Given the description of an element on the screen output the (x, y) to click on. 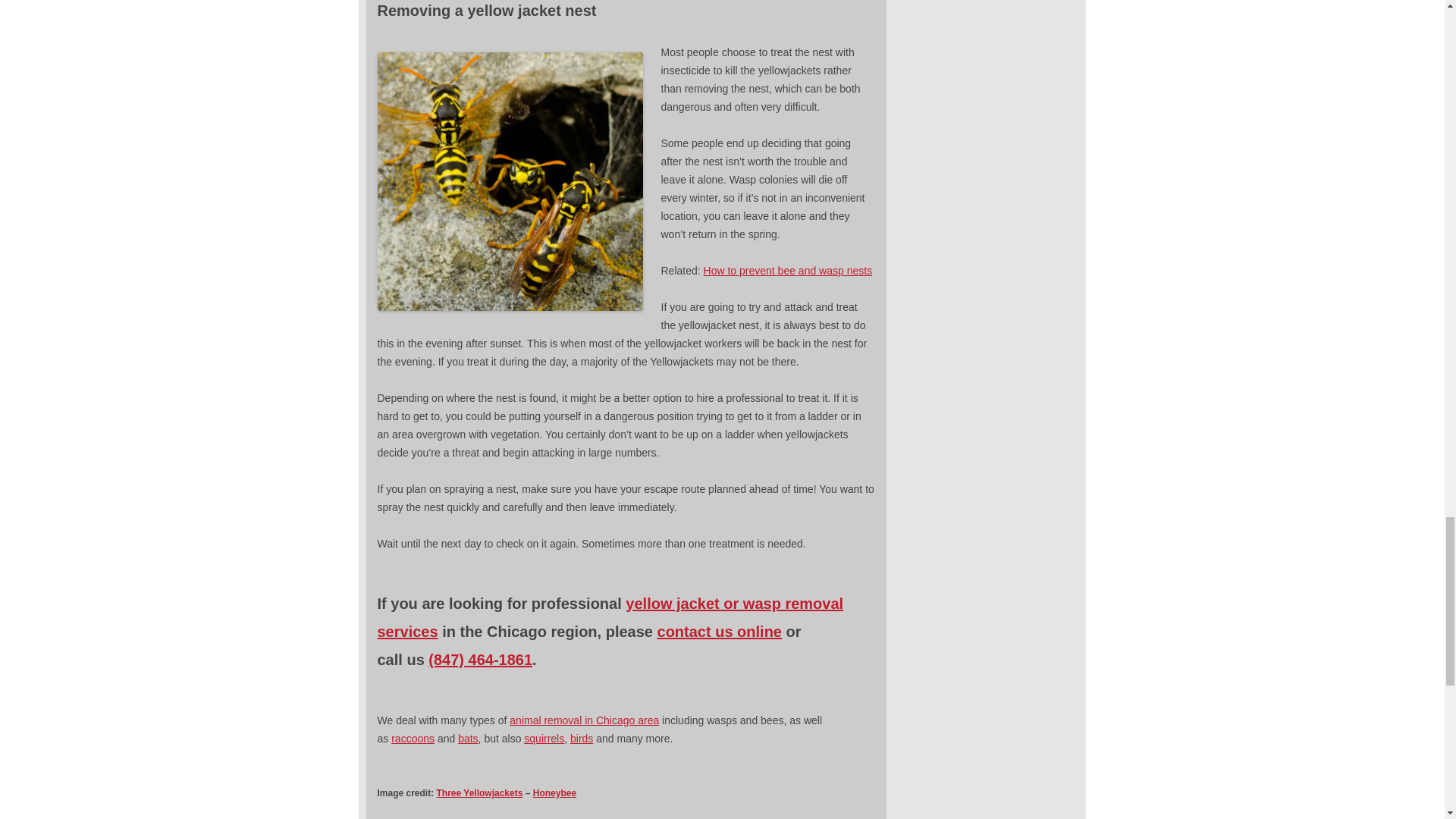
bats (467, 738)
Honeybee (554, 792)
How to prevent bee and wasp nests (787, 270)
birds (581, 738)
animal removal in Chicago area (584, 720)
raccoons (412, 738)
Three Yellowjackets (479, 792)
contact us online (719, 631)
yellow jacket or wasp removal services (610, 617)
squirrels (544, 738)
